Given the description of an element on the screen output the (x, y) to click on. 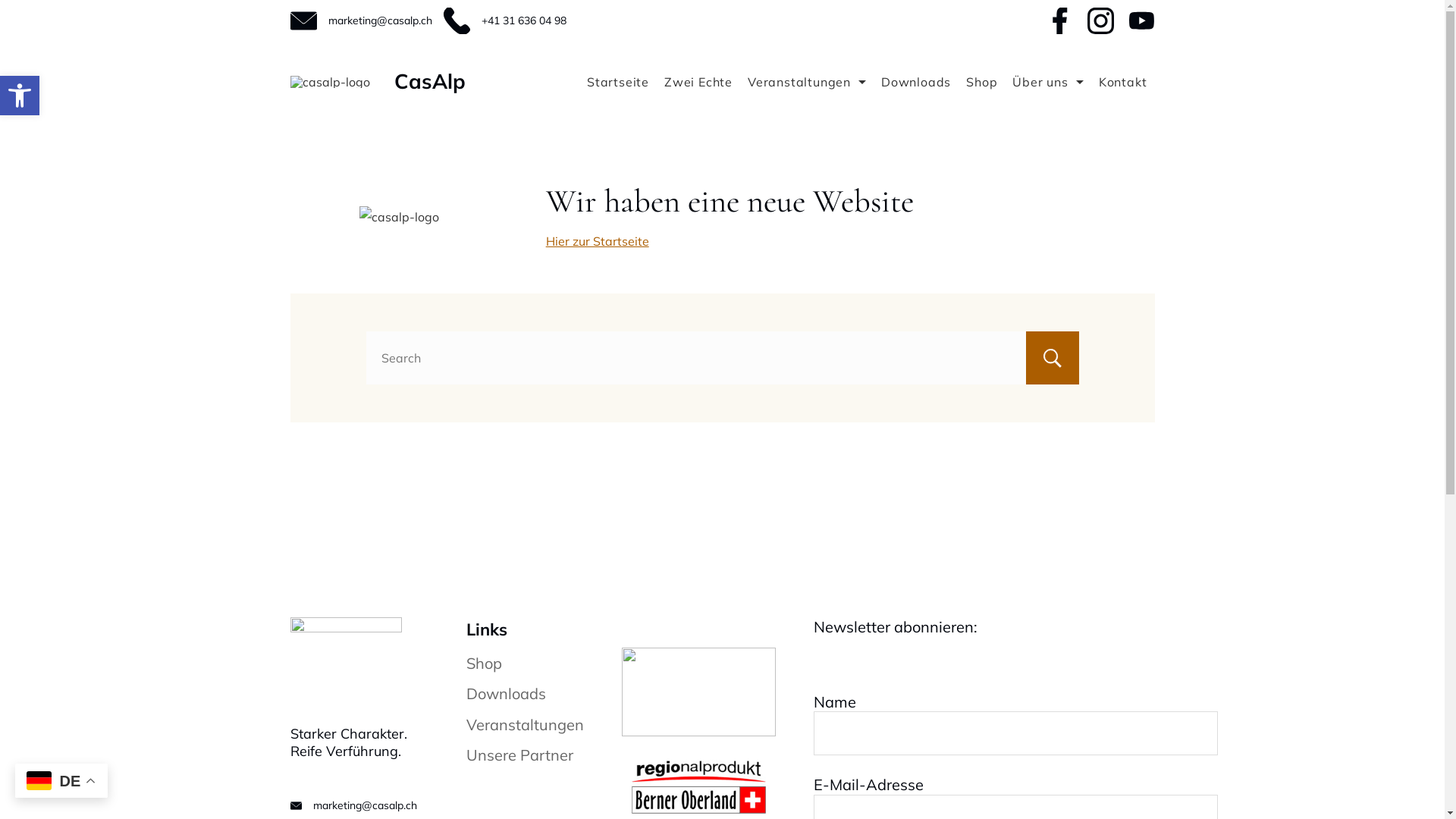
Search Element type: text (1051, 357)
Startseite Element type: text (617, 81)
Shop Element type: text (483, 662)
Zwei Echte Element type: text (698, 81)
Shop Element type: text (981, 81)
Veranstaltungen Element type: text (524, 724)
Unsere Partner Element type: text (518, 754)
Search Input Element type: hover (721, 357)
Veranstaltungen Element type: text (806, 81)
Hier zur Startseite Element type: text (597, 240)
Kontakt Element type: text (1122, 81)
marketing@casalp.ch Element type: text (364, 805)
marketing@casalp.ch Element type: text (379, 20)
+41 31 636 04 98 Element type: text (522, 20)
CasAlp Element type: text (429, 81)
Open toolbar
Accessibility Tools Element type: text (19, 95)
Downloads Element type: text (915, 81)
Downloads Element type: text (505, 693)
